Given the description of an element on the screen output the (x, y) to click on. 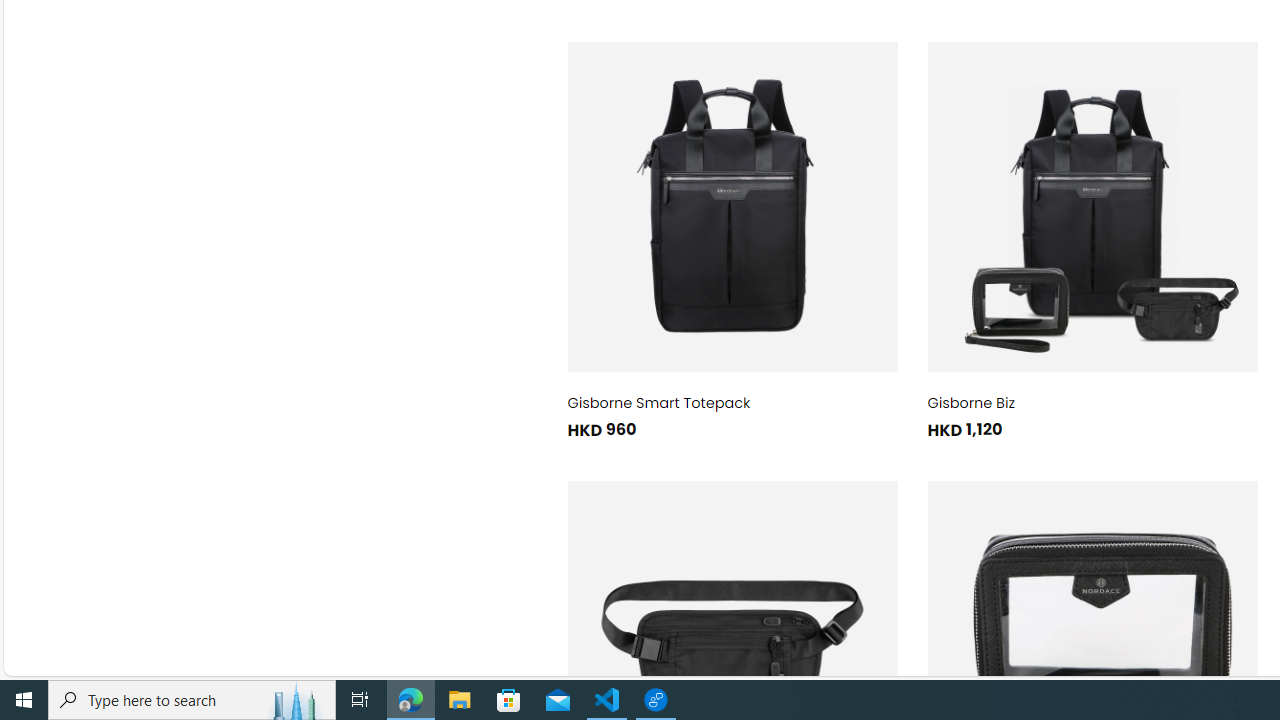
Class: fill (1092, 206)
